Given the description of an element on the screen output the (x, y) to click on. 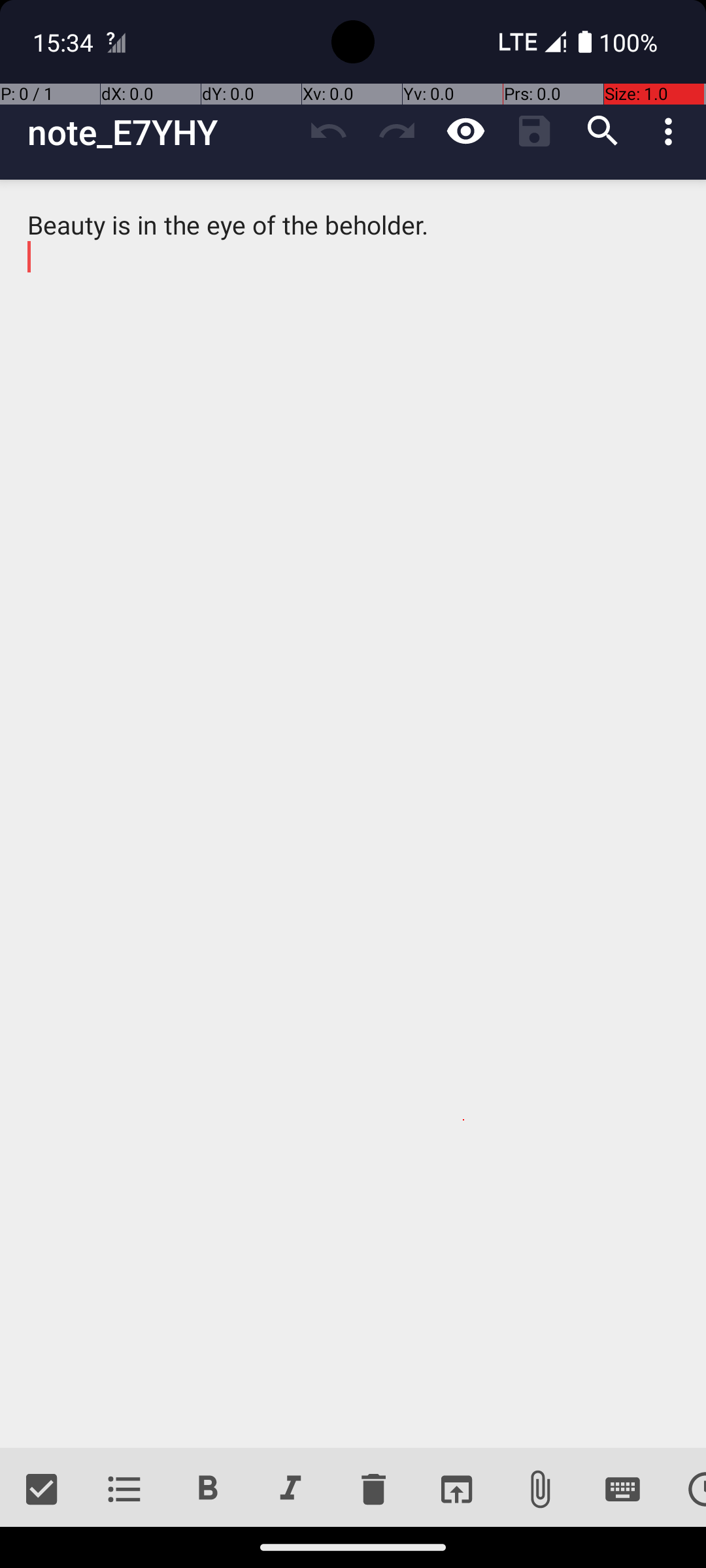
note_E7YHY Element type: android.widget.TextView (160, 131)
Beauty is in the eye of the beholder.
 Element type: android.widget.EditText (353, 813)
